Given the description of an element on the screen output the (x, y) to click on. 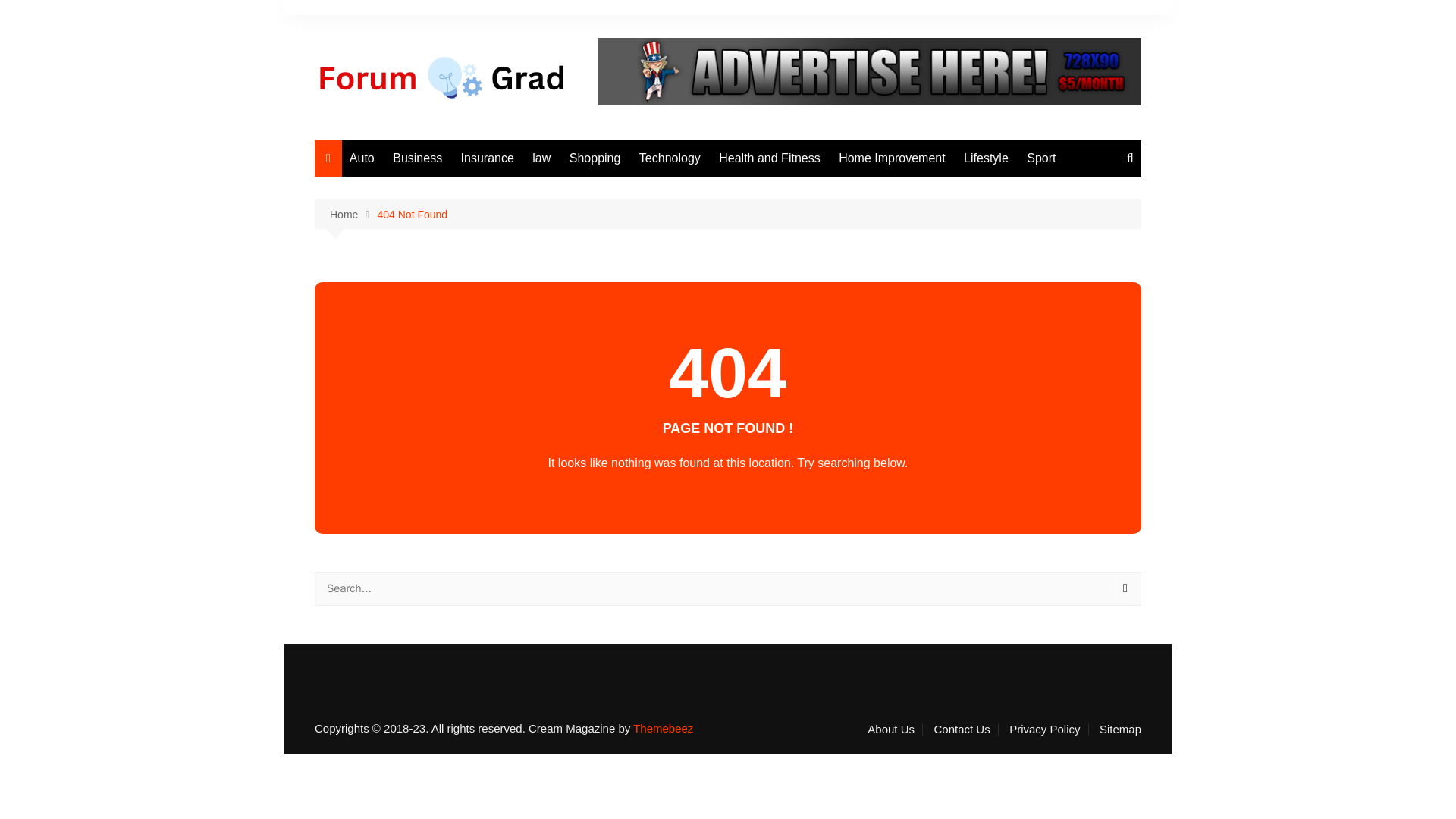
Business (417, 158)
Contact Us (965, 729)
Home Improvement (892, 158)
Lifestyle (986, 158)
Sitemap (1120, 729)
Shopping (595, 158)
law (540, 158)
Home (353, 214)
Themebeez (663, 727)
Auto (361, 158)
Sport (1040, 158)
About Us (895, 729)
Insurance (486, 158)
Privacy Policy (1048, 729)
Technology (669, 158)
